Given the description of an element on the screen output the (x, y) to click on. 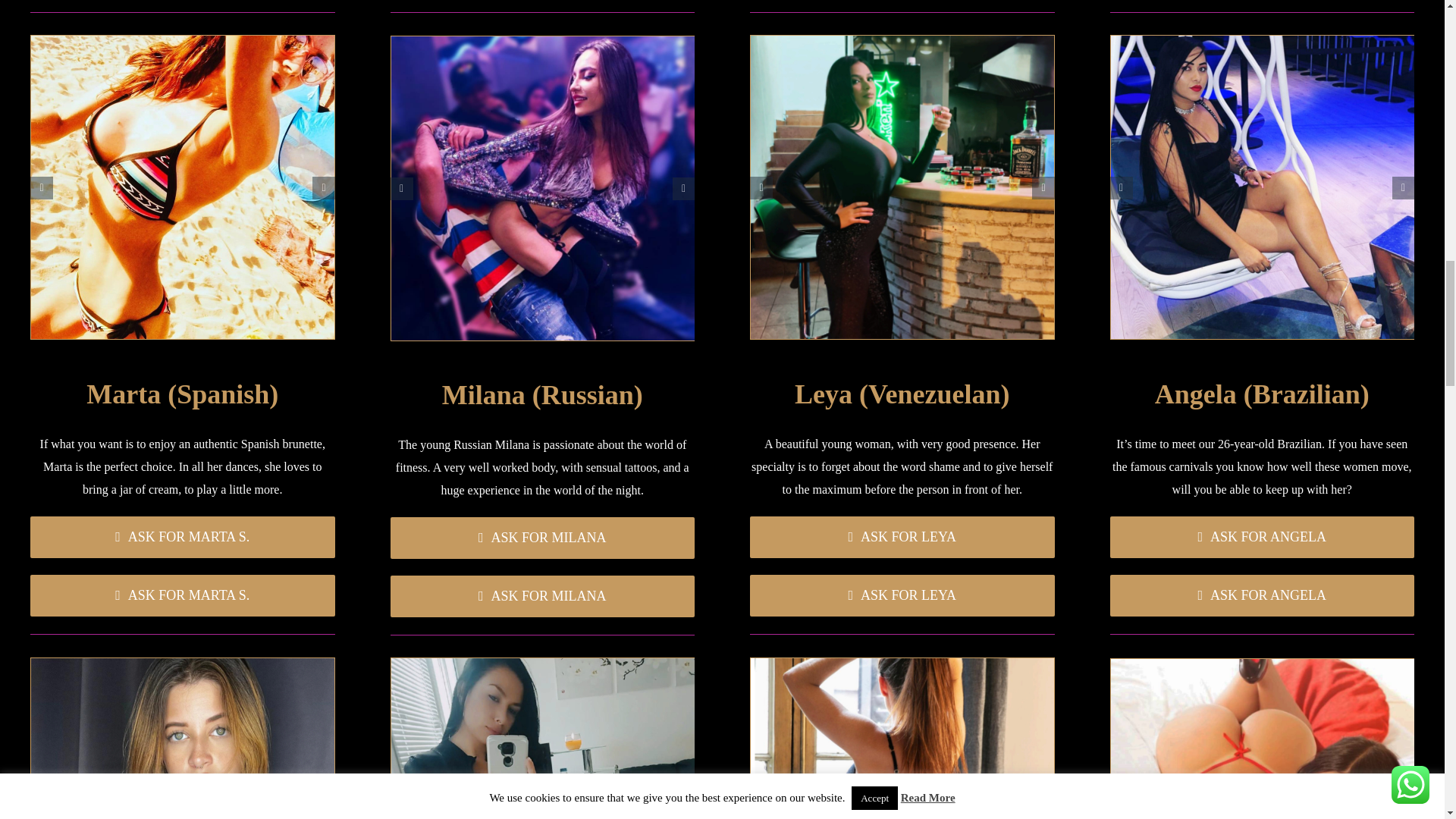
ASK FOR MARTA S. (182, 536)
